Given the description of an element on the screen output the (x, y) to click on. 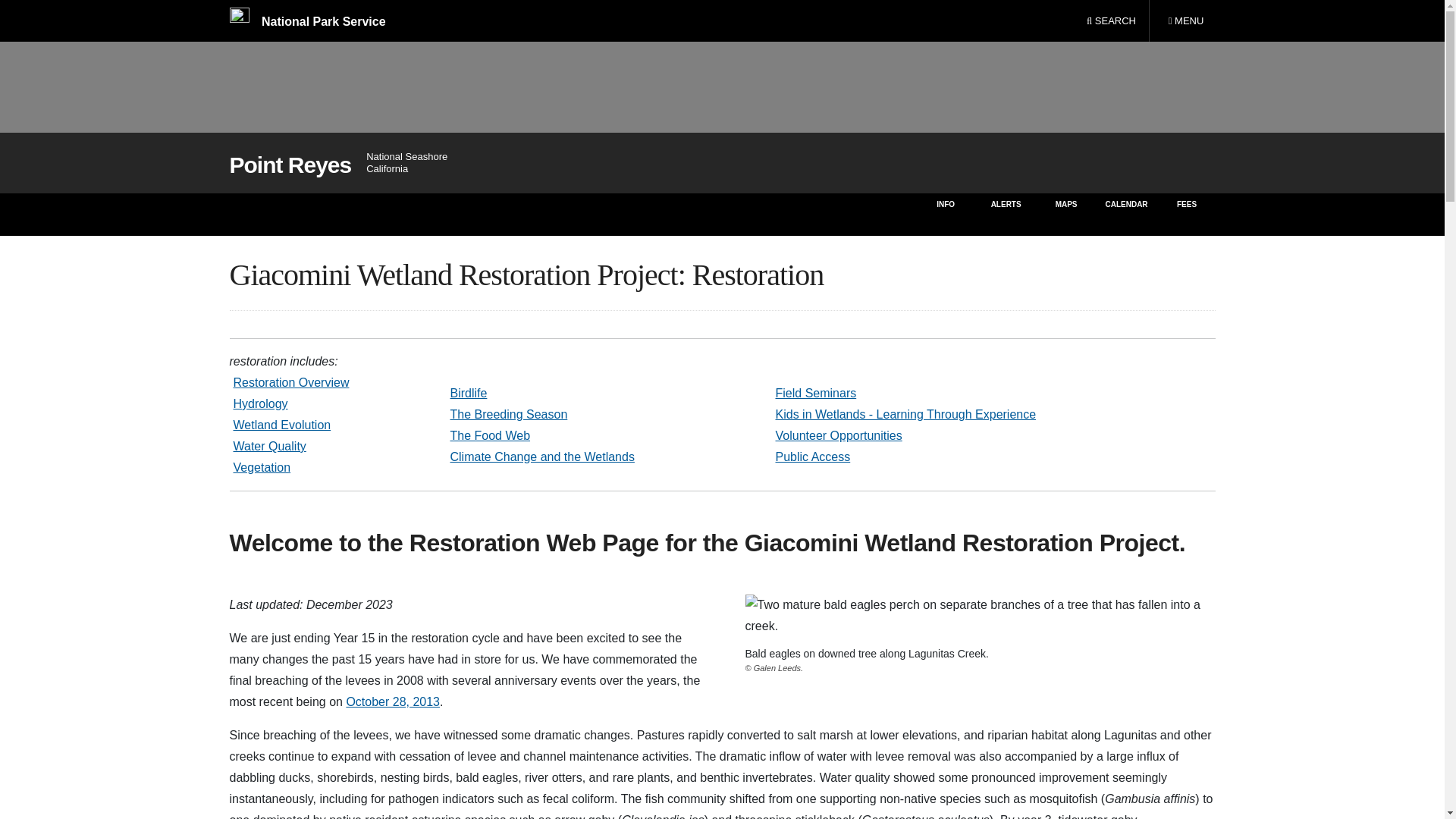
Point Reyes (289, 164)
Restoration Overview (1185, 20)
Field Seminars (290, 382)
MAPS (815, 392)
October 28, 2013 (1066, 214)
Public Access (392, 701)
FEES (812, 456)
Wetland Evolution (1186, 214)
Climate Change and the Wetlands (281, 424)
